Given the description of an element on the screen output the (x, y) to click on. 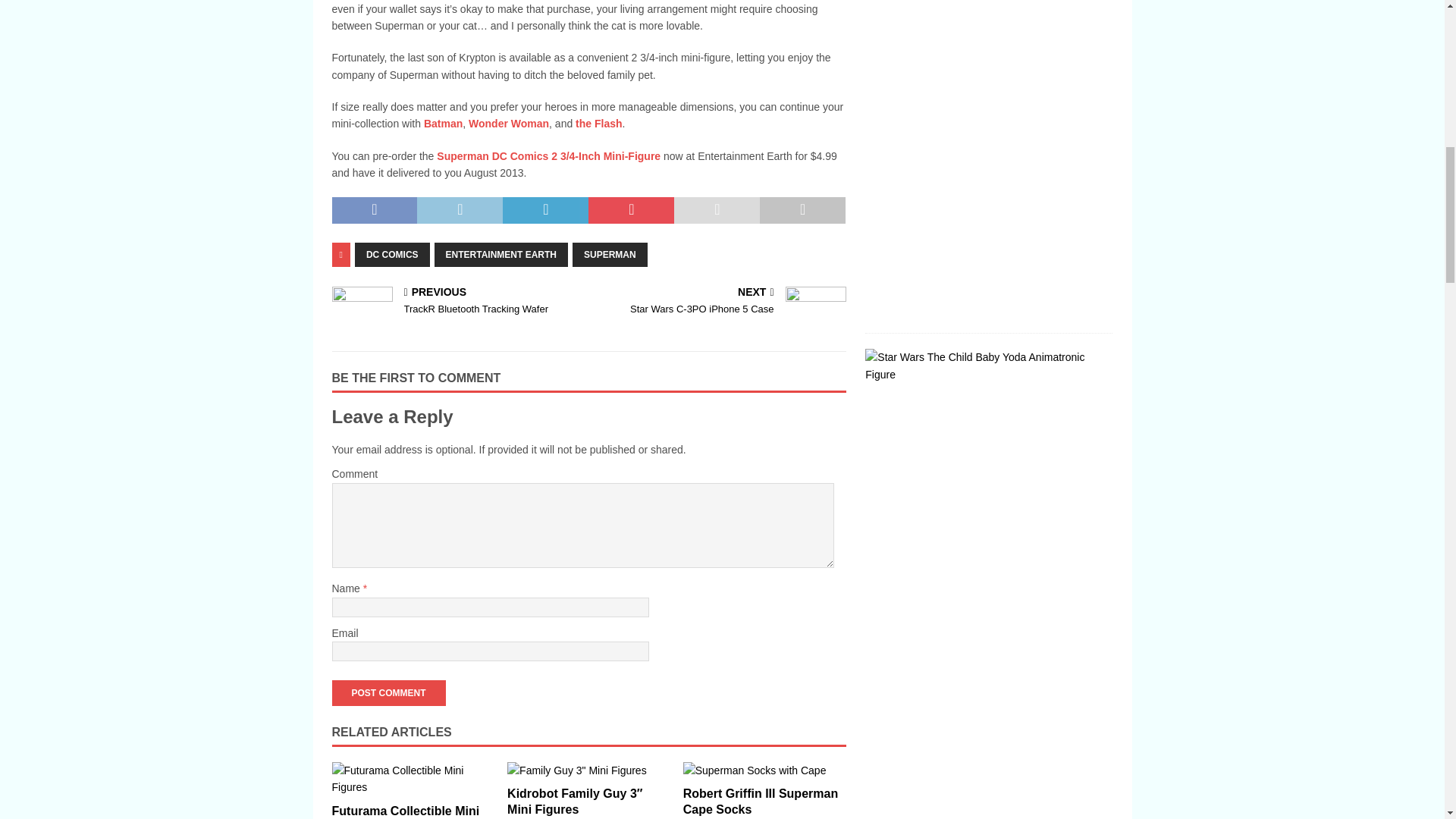
Futurama Collectible Mini Figures (413, 779)
Futurama Collectible Mini Figures (405, 811)
Post Comment (388, 692)
